Given the description of an element on the screen output the (x, y) to click on. 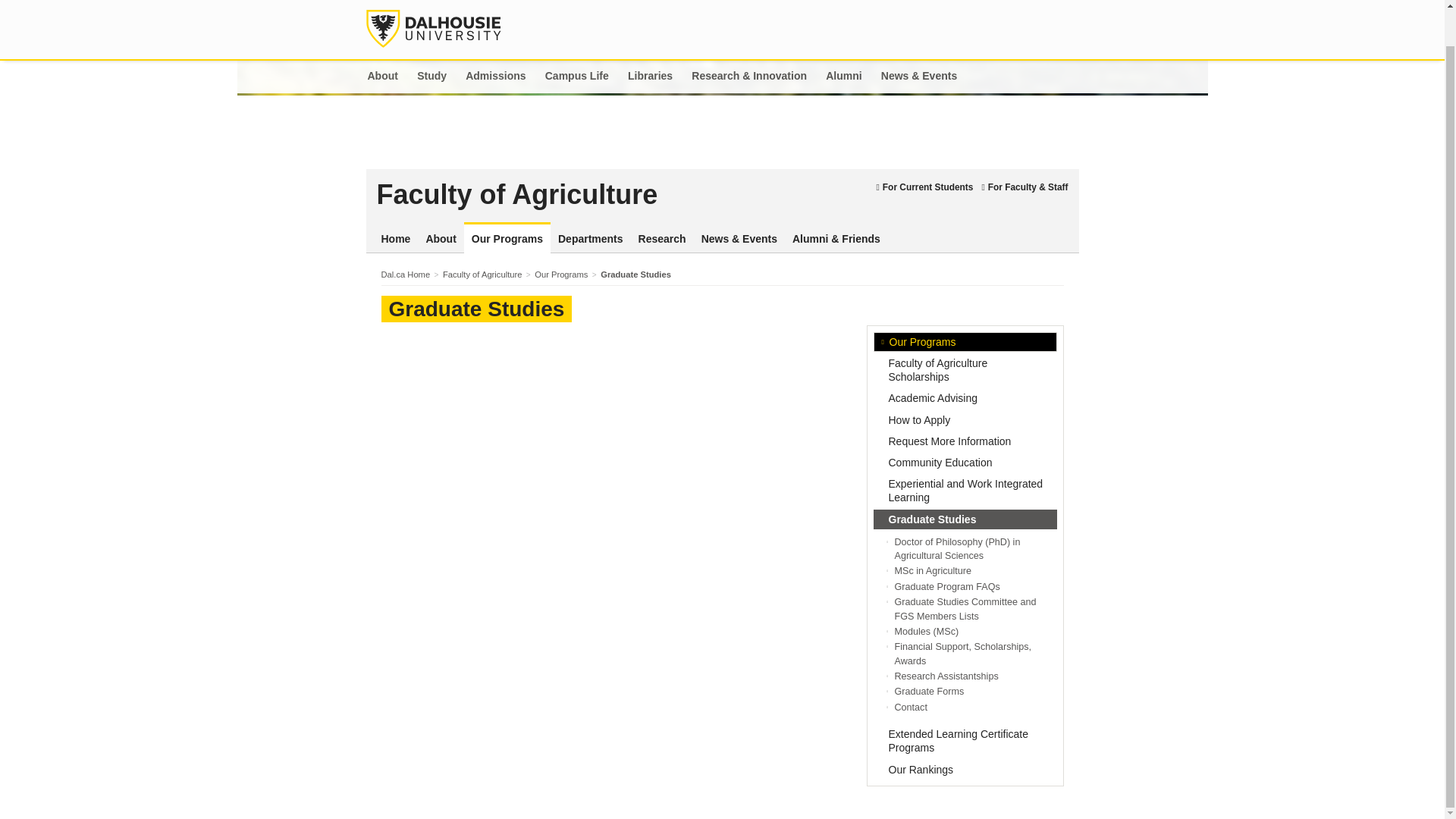
Graduate Program FAQs (947, 586)
Admissions (496, 76)
Experiential and Work Integrated Learning (965, 490)
Back to Dalhousie University Home Page (432, 28)
About (440, 239)
Study (432, 76)
Faculty of Agriculture (621, 194)
Faculty of Agriculture Scholarships (965, 369)
Home (394, 239)
Our Programs (507, 239)
